Given the description of an element on the screen output the (x, y) to click on. 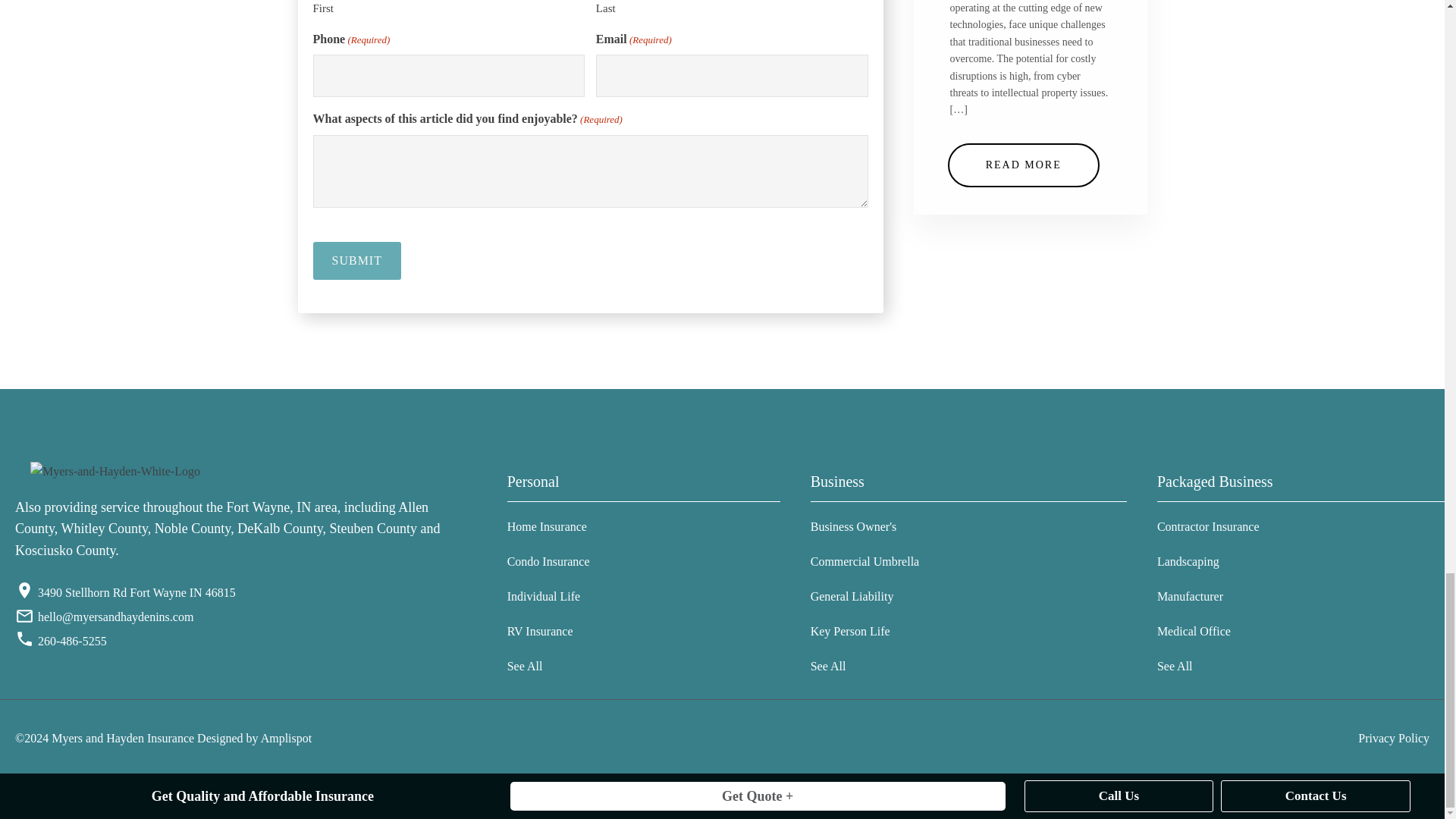
See All (548, 666)
Submit (356, 260)
RV Insurance (548, 631)
Submit (356, 260)
Home Insurance (548, 526)
Condo Insurance (548, 561)
READ MORE (1023, 165)
Individual Life (548, 596)
